Given the description of an element on the screen output the (x, y) to click on. 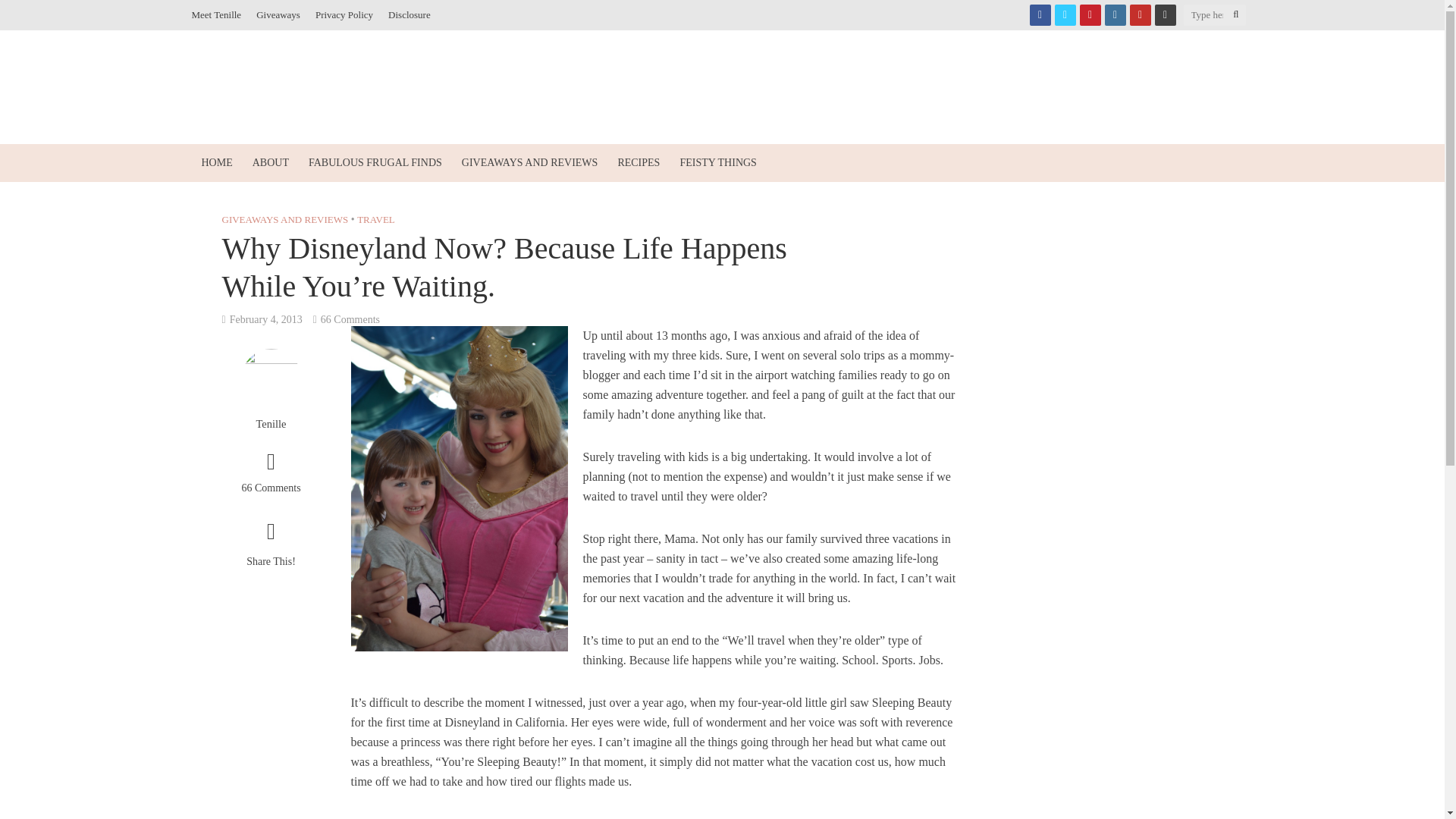
Giveaways (277, 15)
Disclosure (409, 15)
Meet Tenille (219, 15)
TRAVEL (375, 221)
GIVEAWAYS AND REVIEWS (284, 221)
FEISTY THINGS (718, 162)
ABOUT (270, 162)
66 Comments (270, 475)
66 Comments (350, 320)
RECIPES (638, 162)
